Given the description of an element on the screen output the (x, y) to click on. 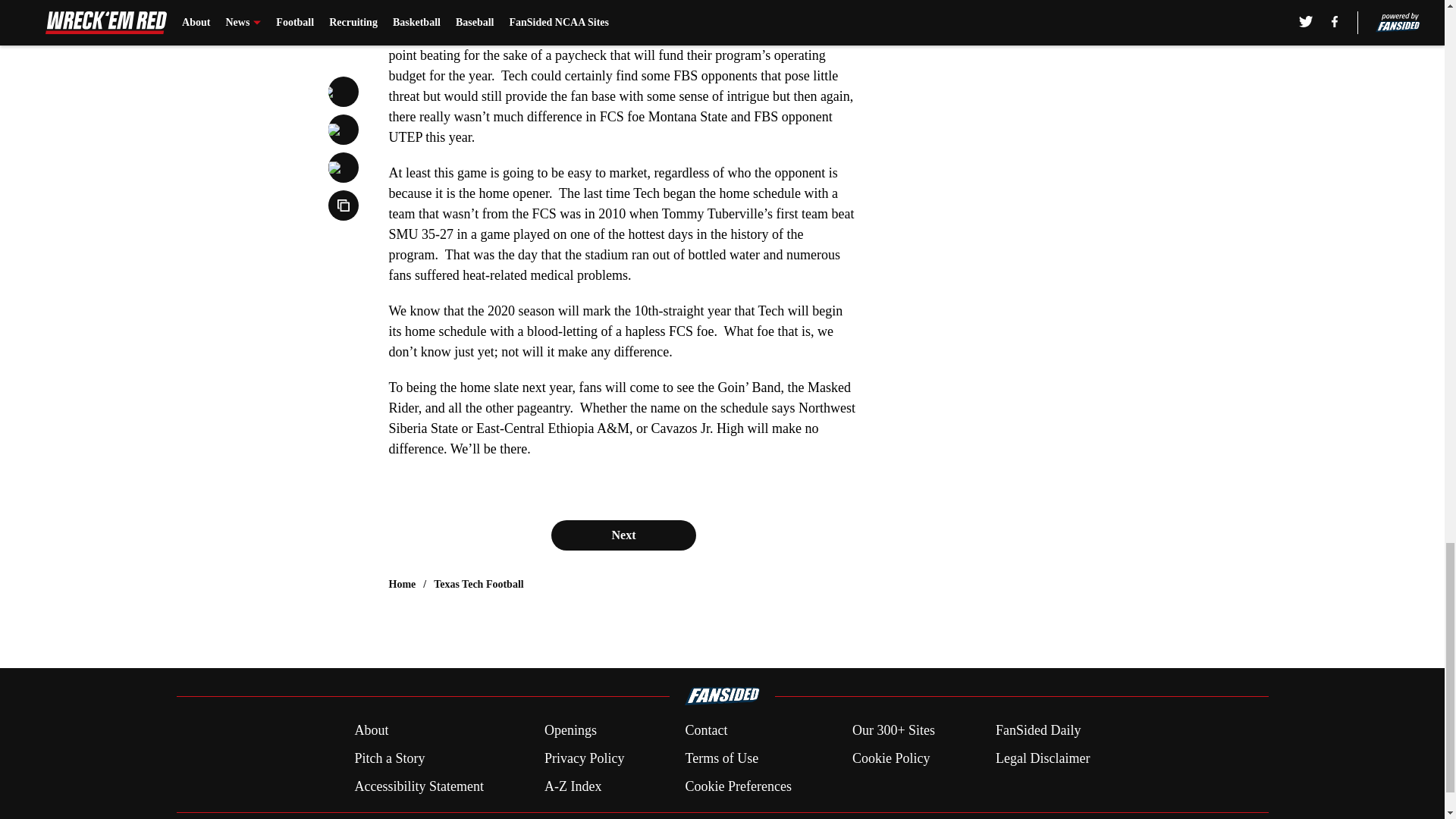
Pitch a Story (389, 758)
Legal Disclaimer (1042, 758)
Accessibility Statement (418, 786)
Openings (570, 730)
Privacy Policy (584, 758)
Home (401, 584)
Cookie Policy (890, 758)
Contact (705, 730)
Texas Tech Football (478, 584)
Terms of Use (721, 758)
